Given the description of an element on the screen output the (x, y) to click on. 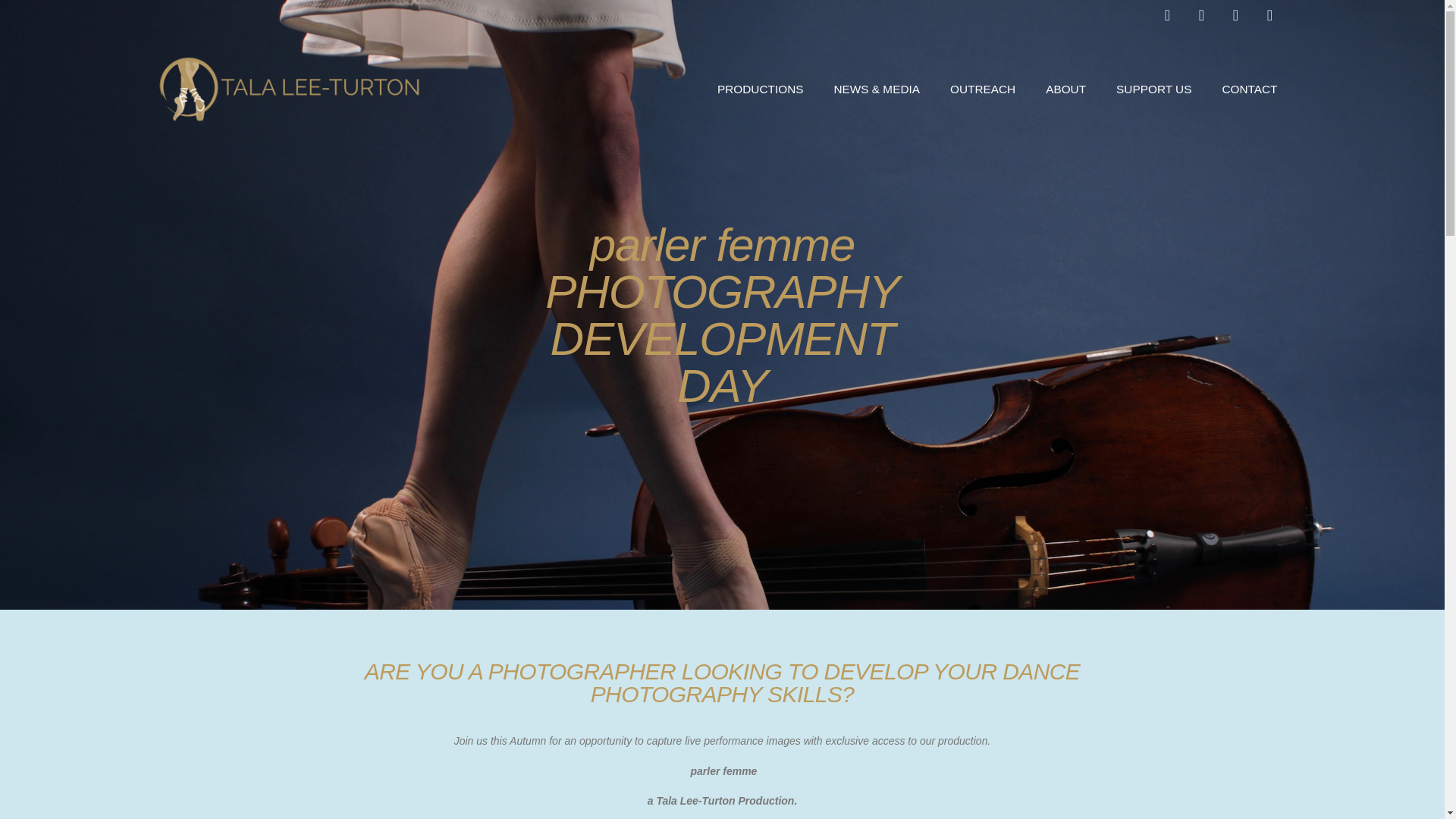
SUPPORT US (1153, 89)
CONTACT (1249, 89)
OUTREACH (982, 89)
PRODUCTIONS (759, 89)
ABOUT (1065, 89)
